Given the description of an element on the screen output the (x, y) to click on. 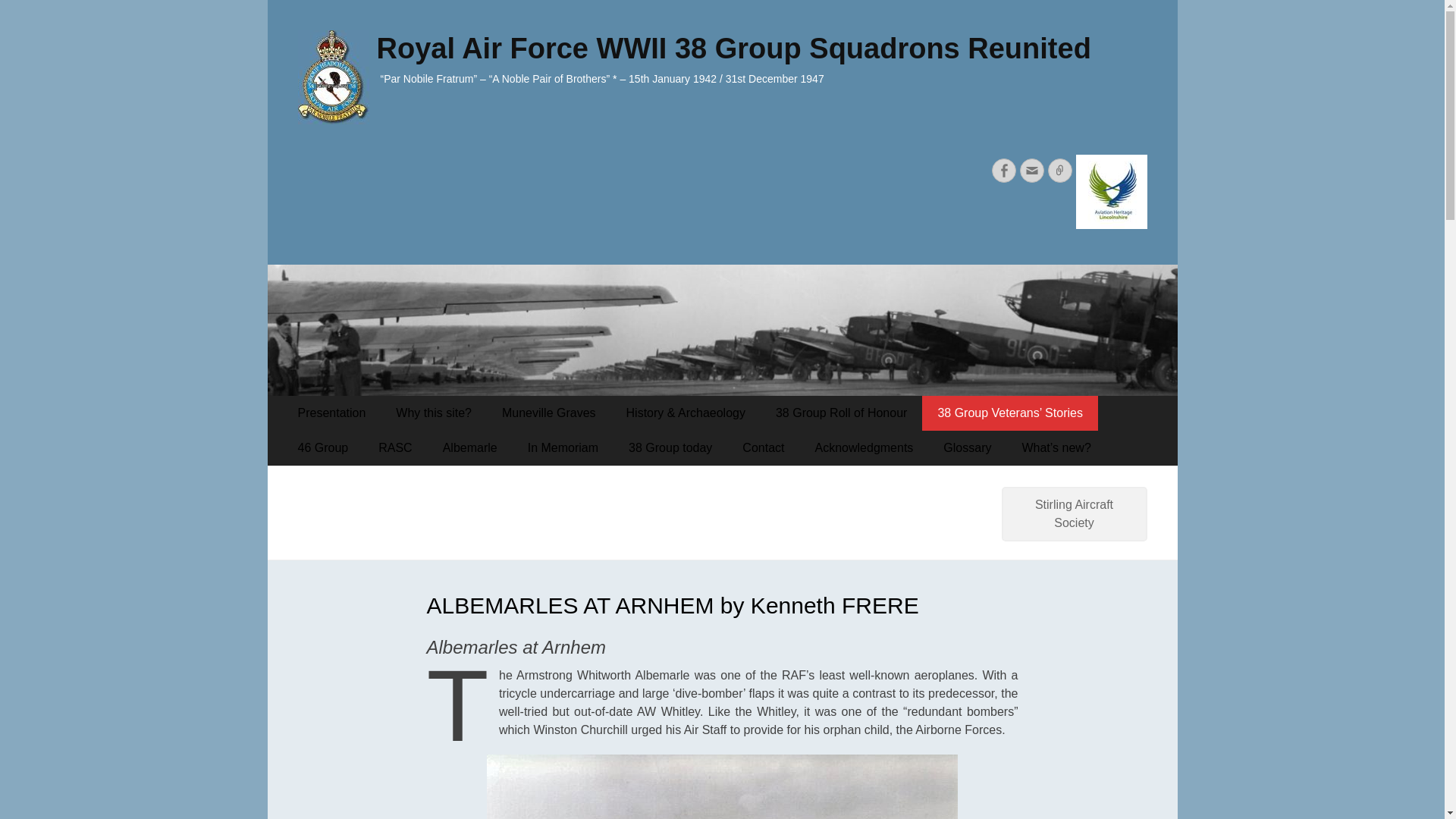
Email (1031, 170)
Aviation Heritage Lincolnshire (1109, 224)
Link (1059, 170)
Facebook (1003, 170)
38 Group Roll of Honour (840, 412)
Link (1059, 170)
Presentation (331, 412)
Why this site? (433, 412)
Muneville Graves (548, 412)
Email (1031, 170)
Facebook (1003, 170)
Royal Air Force WWII 38 Group Squadrons Reunited (732, 48)
